Given the description of an element on the screen output the (x, y) to click on. 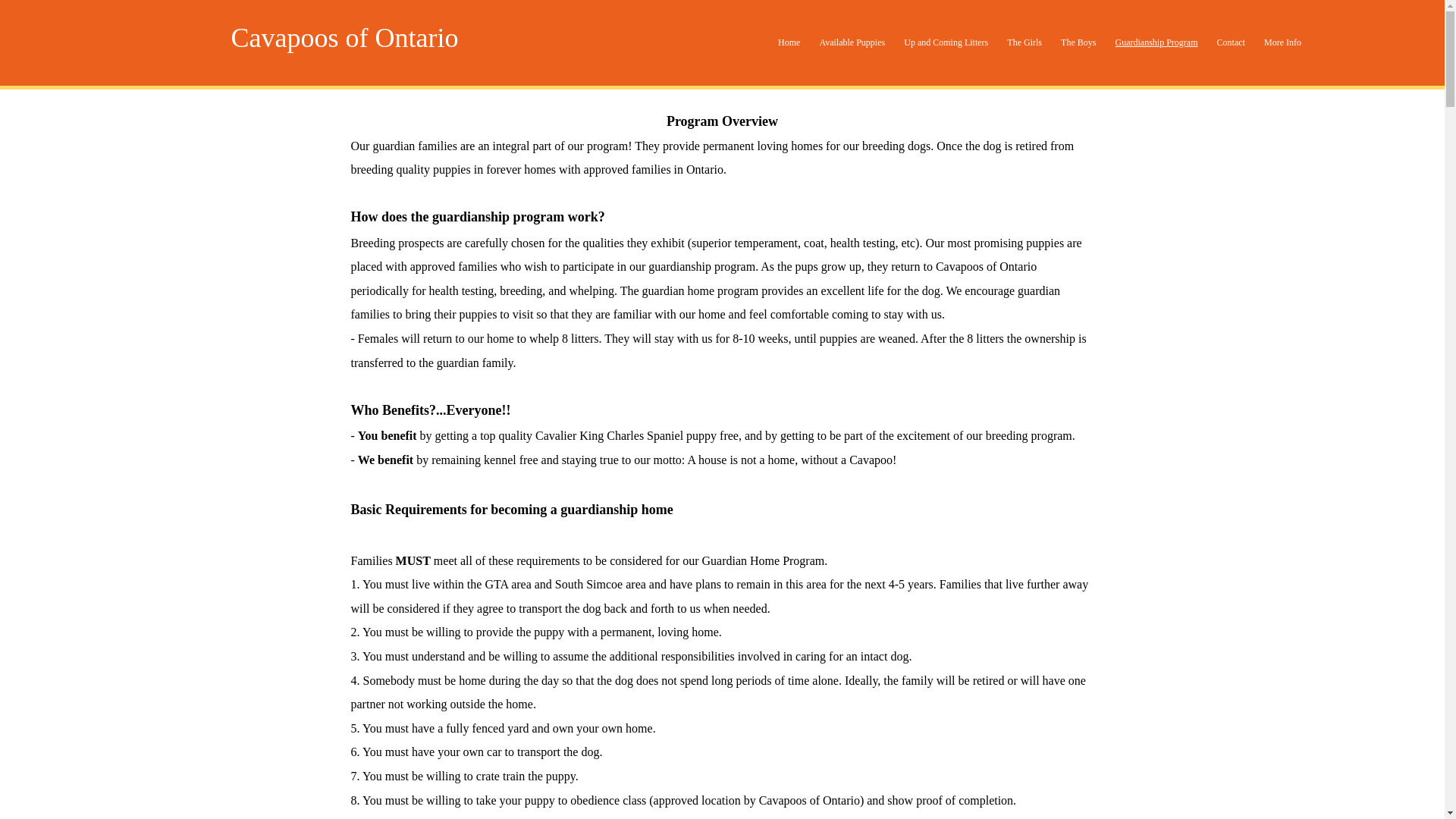
Guardianship Program (1156, 42)
Contact (1230, 42)
More Info (1281, 42)
Home (788, 42)
Up and Coming Litters (946, 42)
The Girls (1024, 42)
The Boys (1078, 42)
Available Puppies (852, 42)
